Given the description of an element on the screen output the (x, y) to click on. 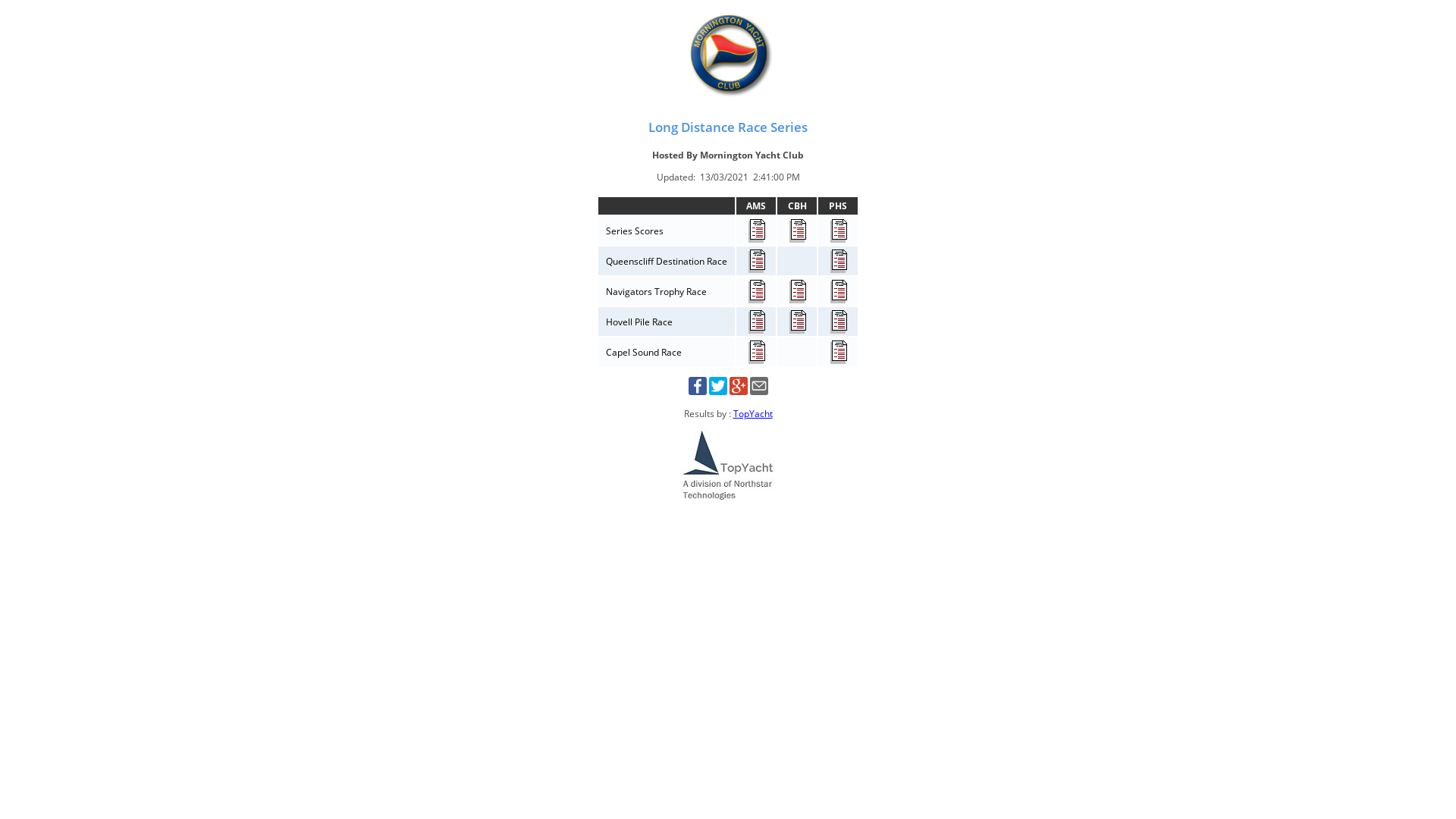
TopYacht Element type: text (751, 413)
Tweet Element type: hover (717, 391)
Send email Element type: hover (758, 391)
Share on Facebook Element type: hover (697, 391)
Share on Google+ Element type: hover (738, 391)
